Given the description of an element on the screen output the (x, y) to click on. 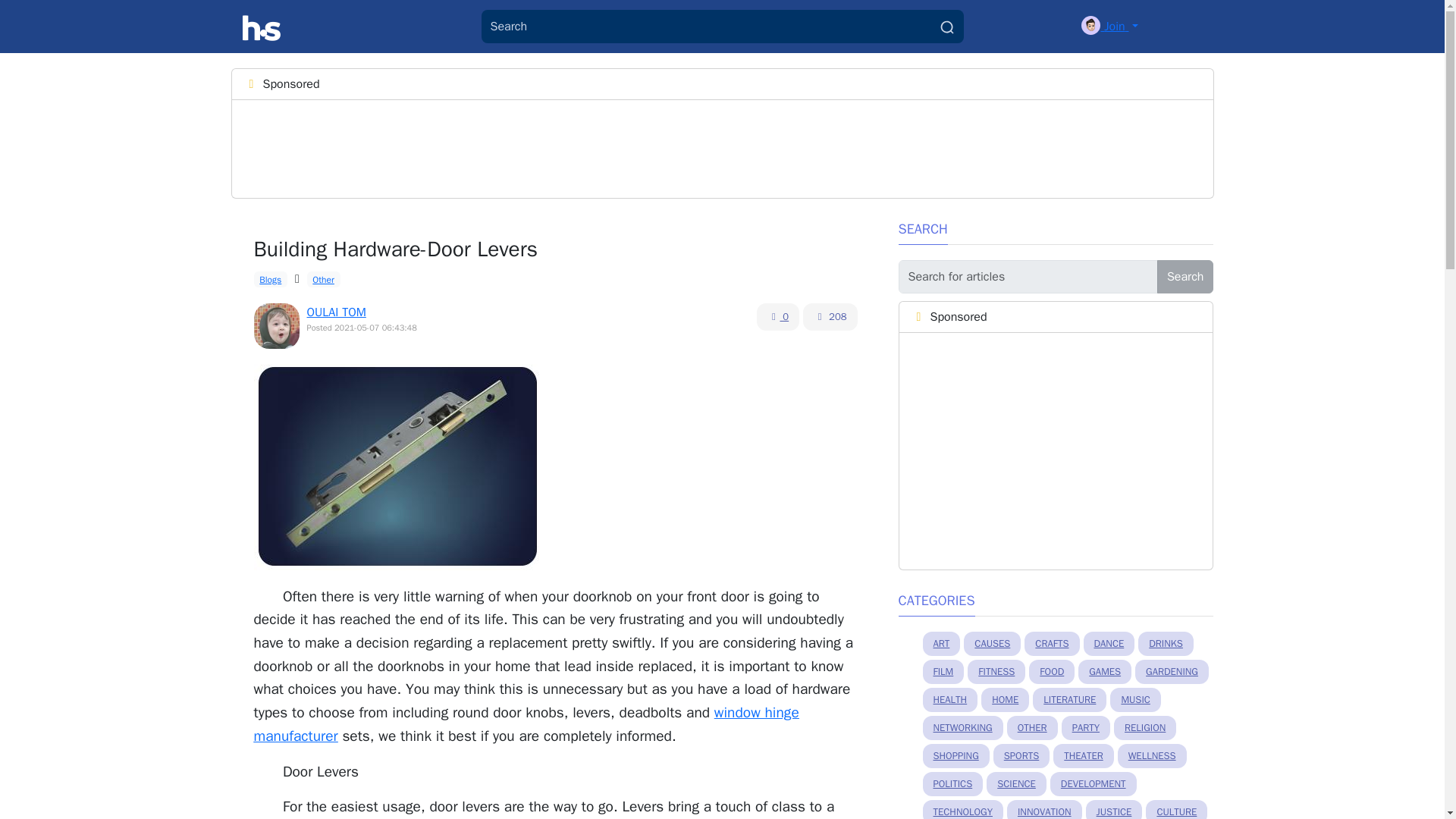
Blogs (269, 278)
Advertisement (1056, 450)
window hinge manufacturer (525, 724)
Huduma Social (262, 27)
CAUSES (991, 643)
FOOD (1051, 671)
GAMES (1104, 671)
Search (1185, 276)
Other (323, 278)
FILM (942, 671)
